Given the description of an element on the screen output the (x, y) to click on. 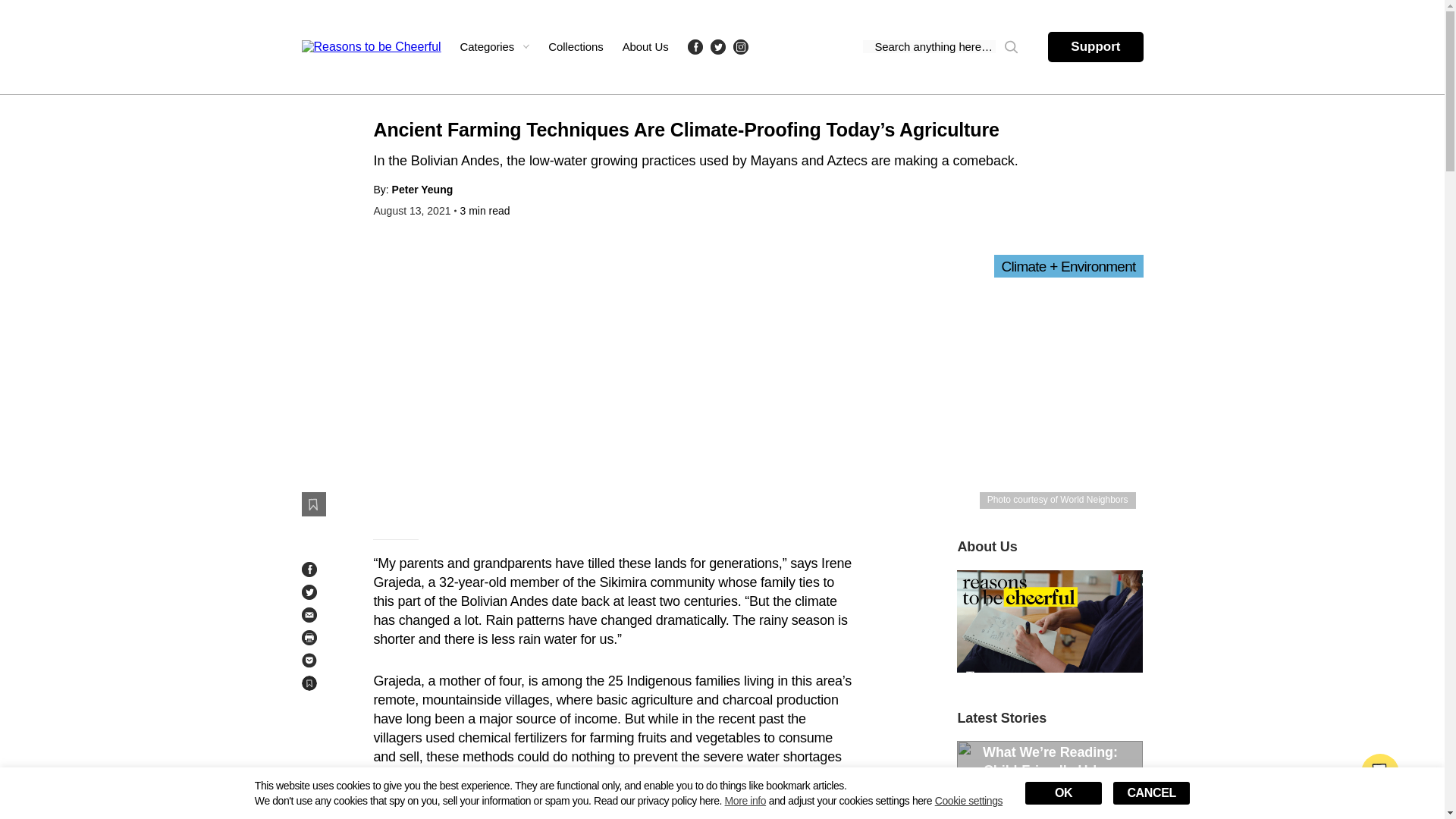
Peter Yeung (421, 189)
Categories (494, 46)
Share with twitter link (309, 591)
Share with facebook link (309, 569)
About Us (645, 46)
Posts by Peter Yeung (421, 189)
Collections (575, 46)
